Given the description of an element on the screen output the (x, y) to click on. 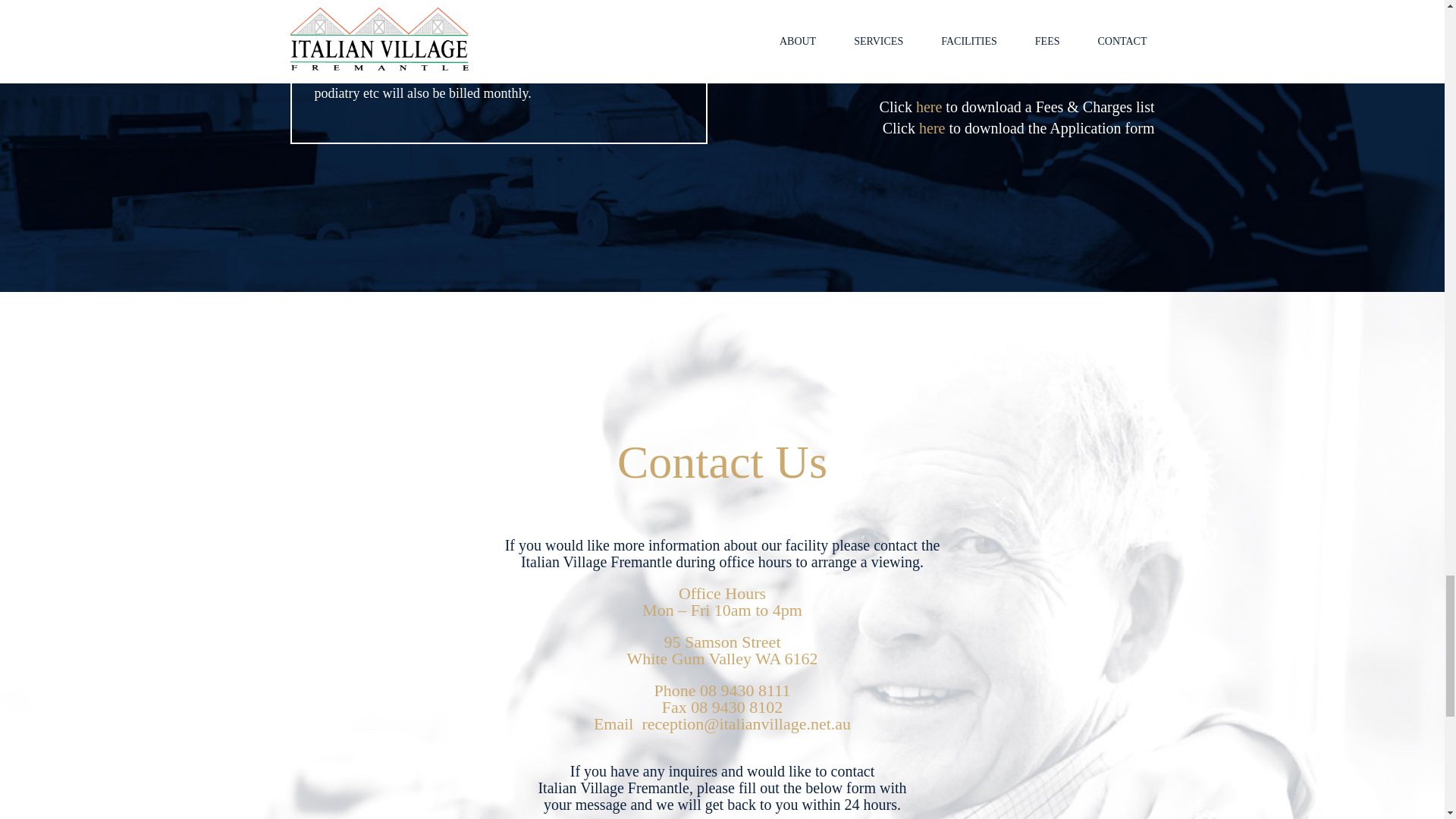
here (928, 106)
here (931, 127)
